Given the description of an element on the screen output the (x, y) to click on. 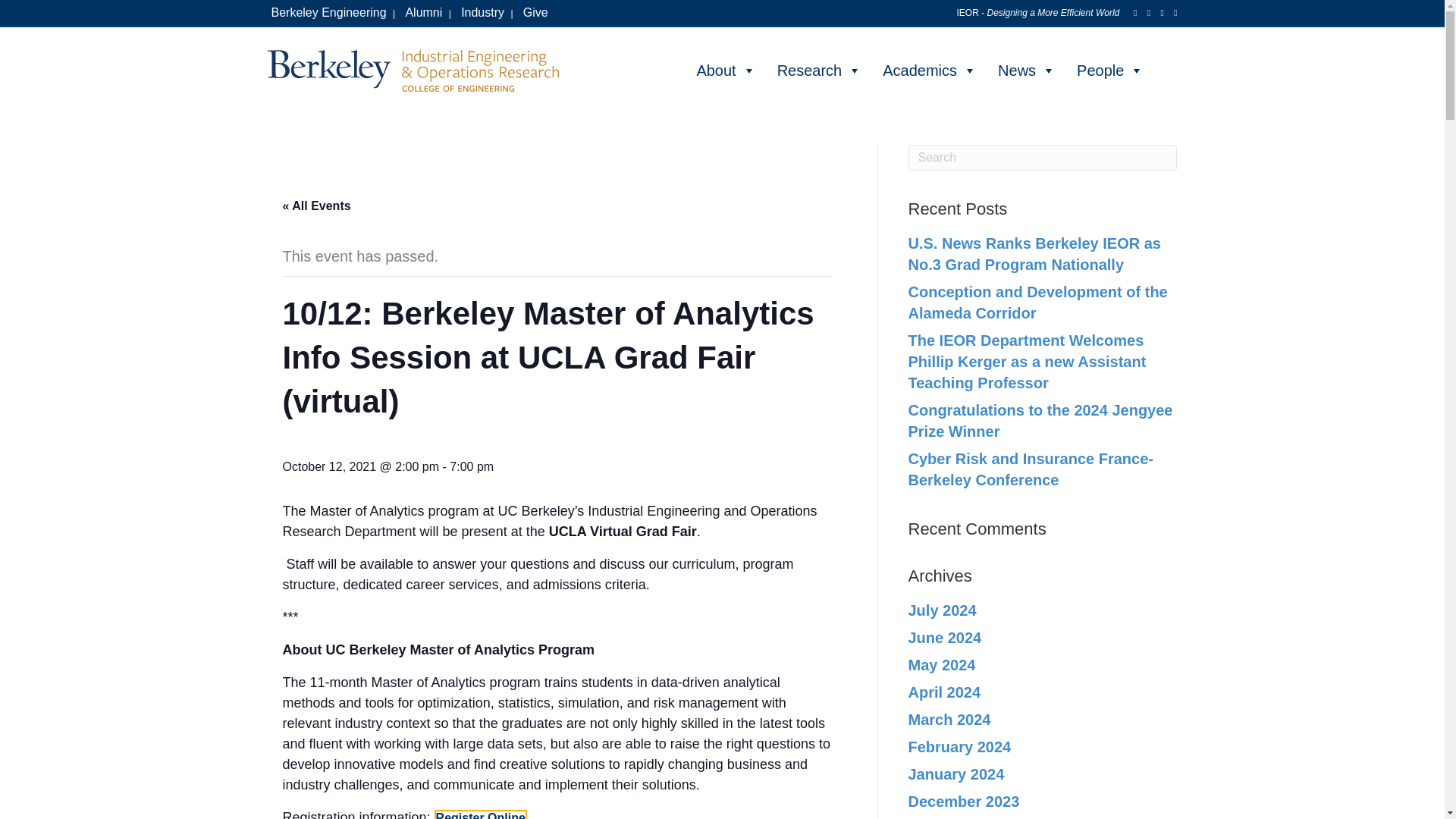
Type and press Enter to search. (1042, 157)
